Given the description of an element on the screen output the (x, y) to click on. 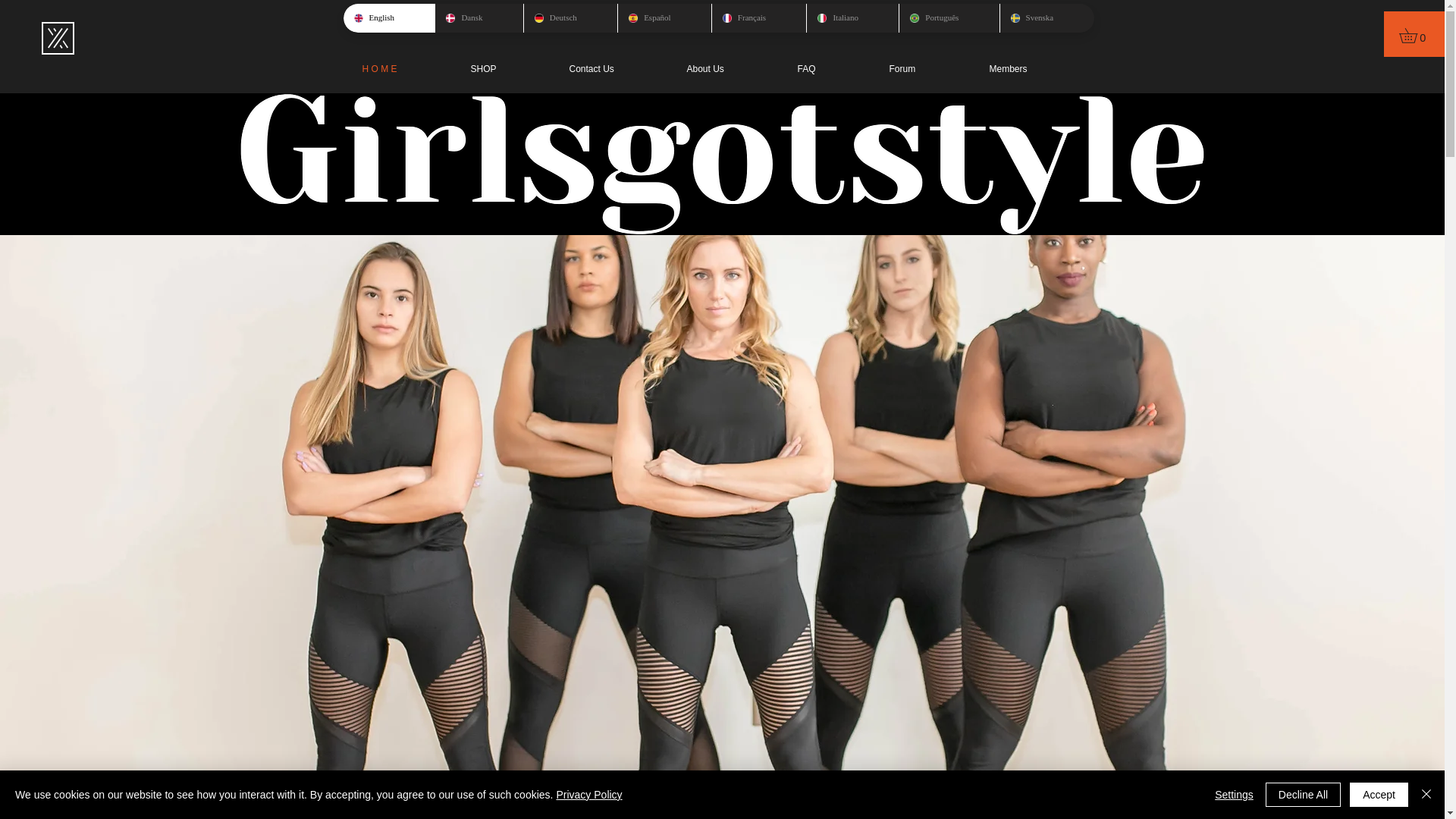
FAQ (831, 68)
About Us (730, 68)
Italiano (852, 18)
Deutsch (569, 18)
English (387, 18)
Contact Us (616, 68)
Members (1033, 68)
H O M E (404, 68)
Forum (927, 68)
0 (1415, 35)
Svenska (1046, 18)
0 (1415, 35)
SHOP (508, 68)
Dansk (477, 18)
